Given the description of an element on the screen output the (x, y) to click on. 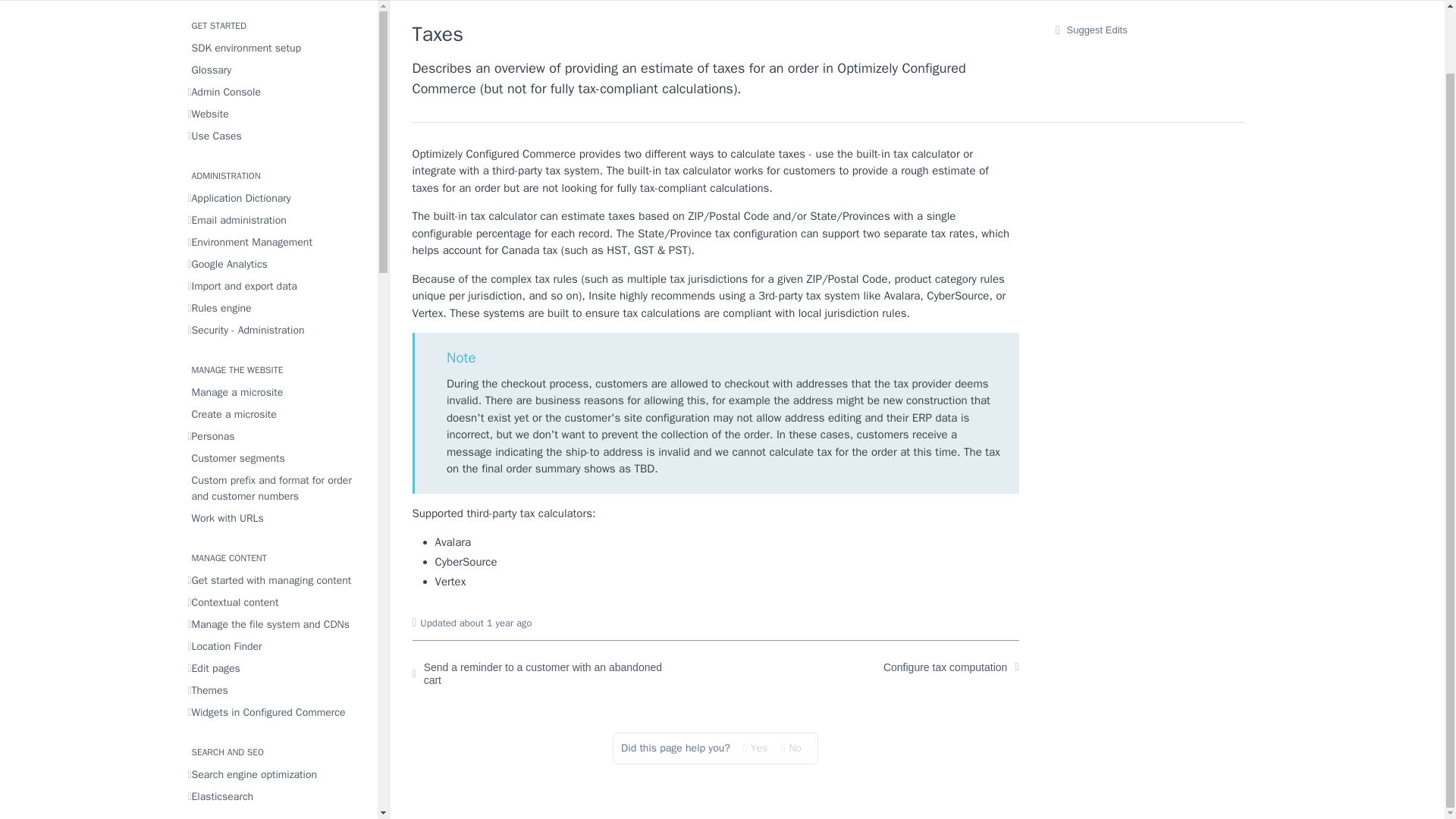
SDK environment setup (277, 47)
Admin Console (277, 91)
Glossary (277, 69)
